Given the description of an element on the screen output the (x, y) to click on. 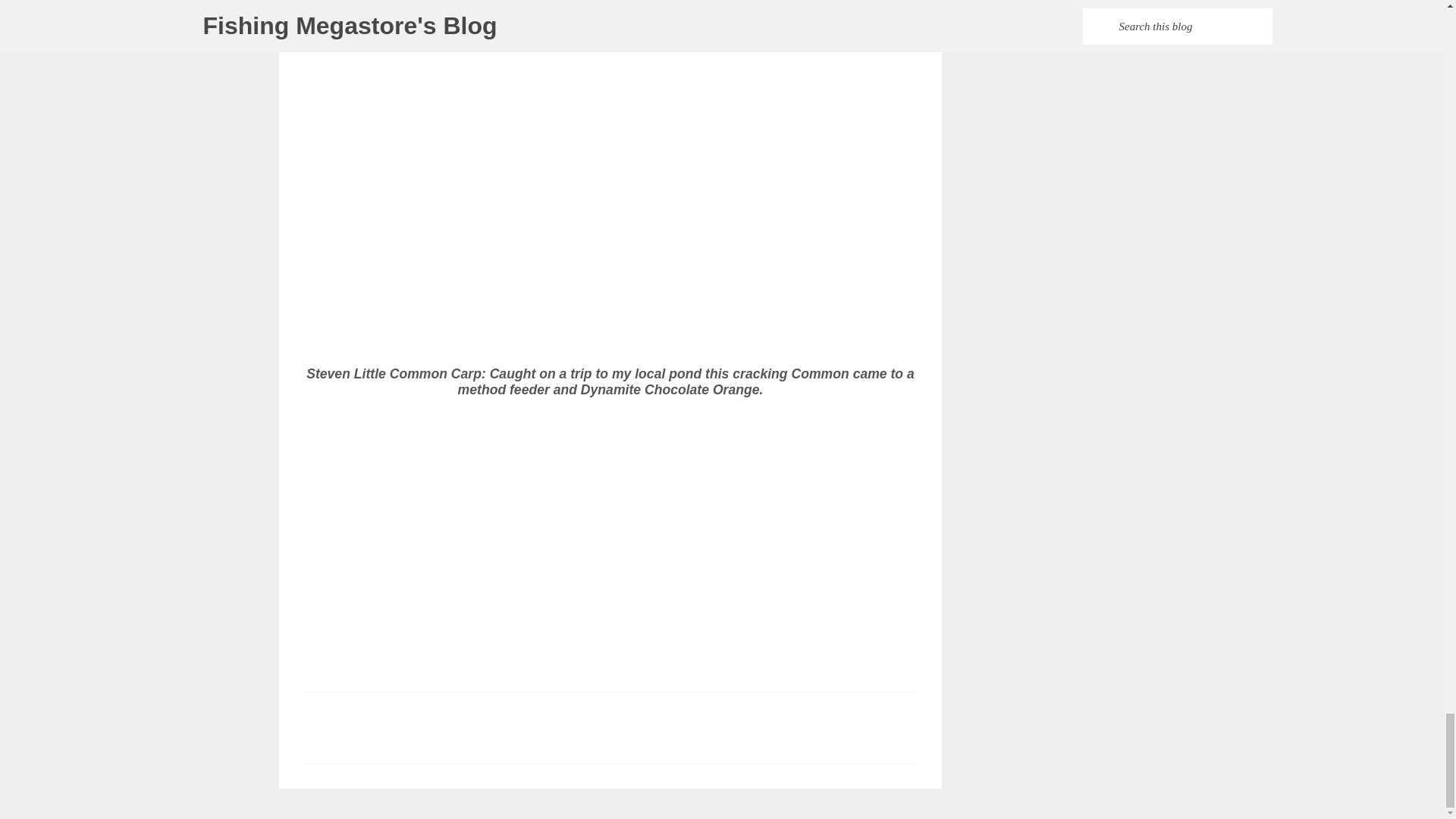
Email Post (311, 594)
